Given the description of an element on the screen output the (x, y) to click on. 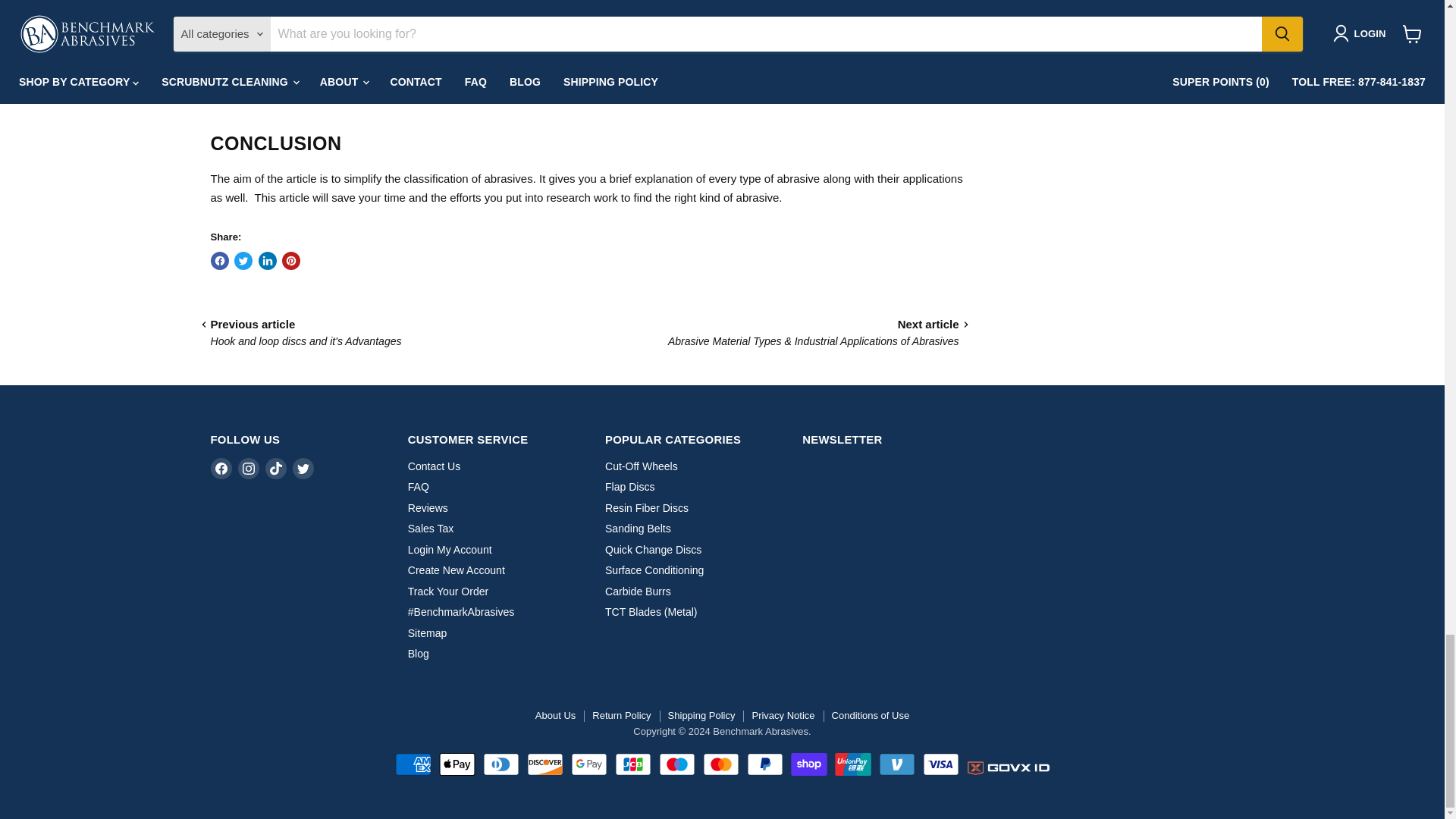
Apple Pay (456, 763)
American Express (412, 763)
Diners Club (499, 763)
